Given the description of an element on the screen output the (x, y) to click on. 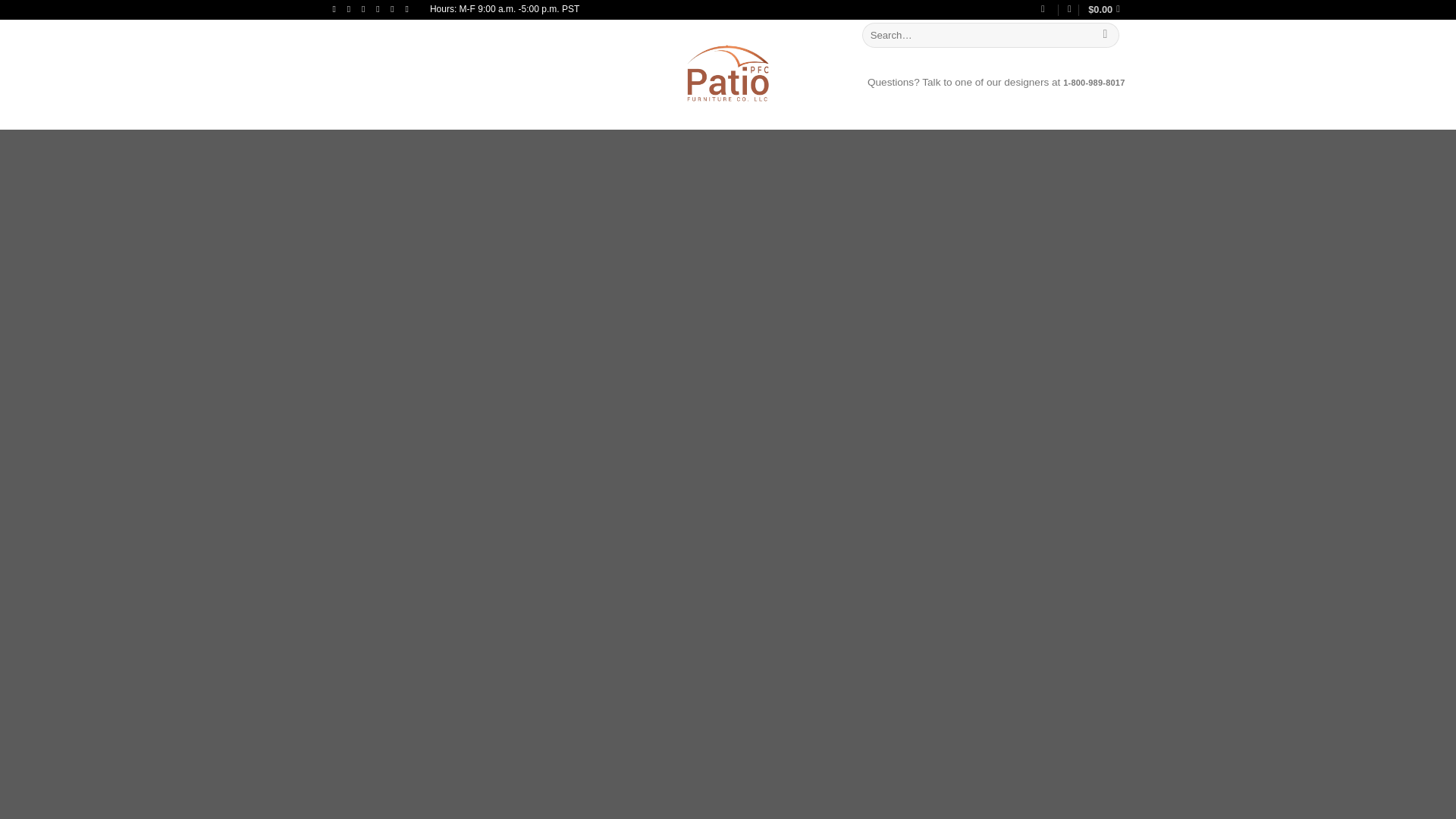
1-800-989-8017 (1093, 82)
Search (1105, 34)
Cart (1106, 9)
